Given the description of an element on the screen output the (x, y) to click on. 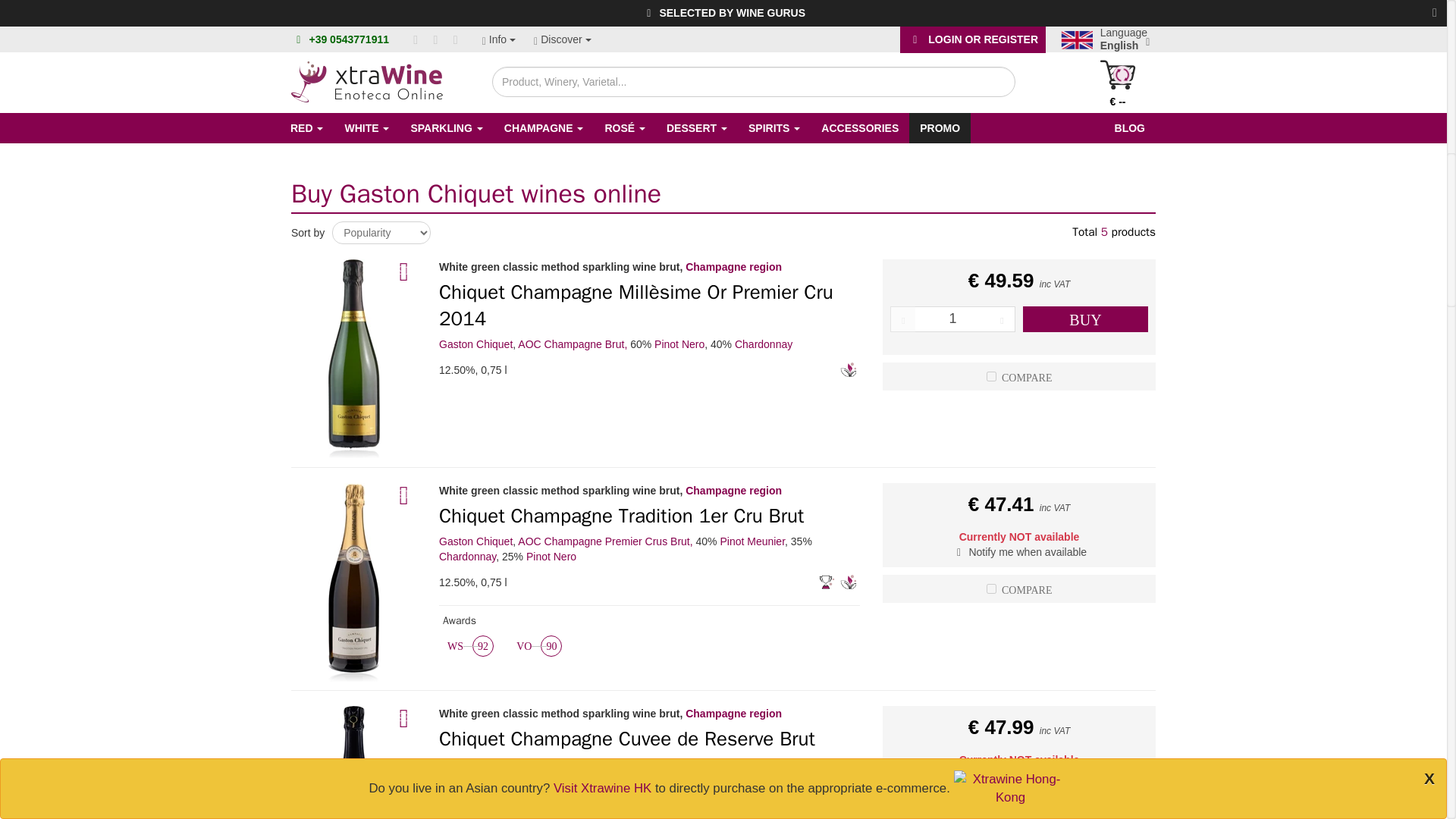
on (991, 376)
on (991, 812)
1 (952, 319)
on (991, 588)
